Given the description of an element on the screen output the (x, y) to click on. 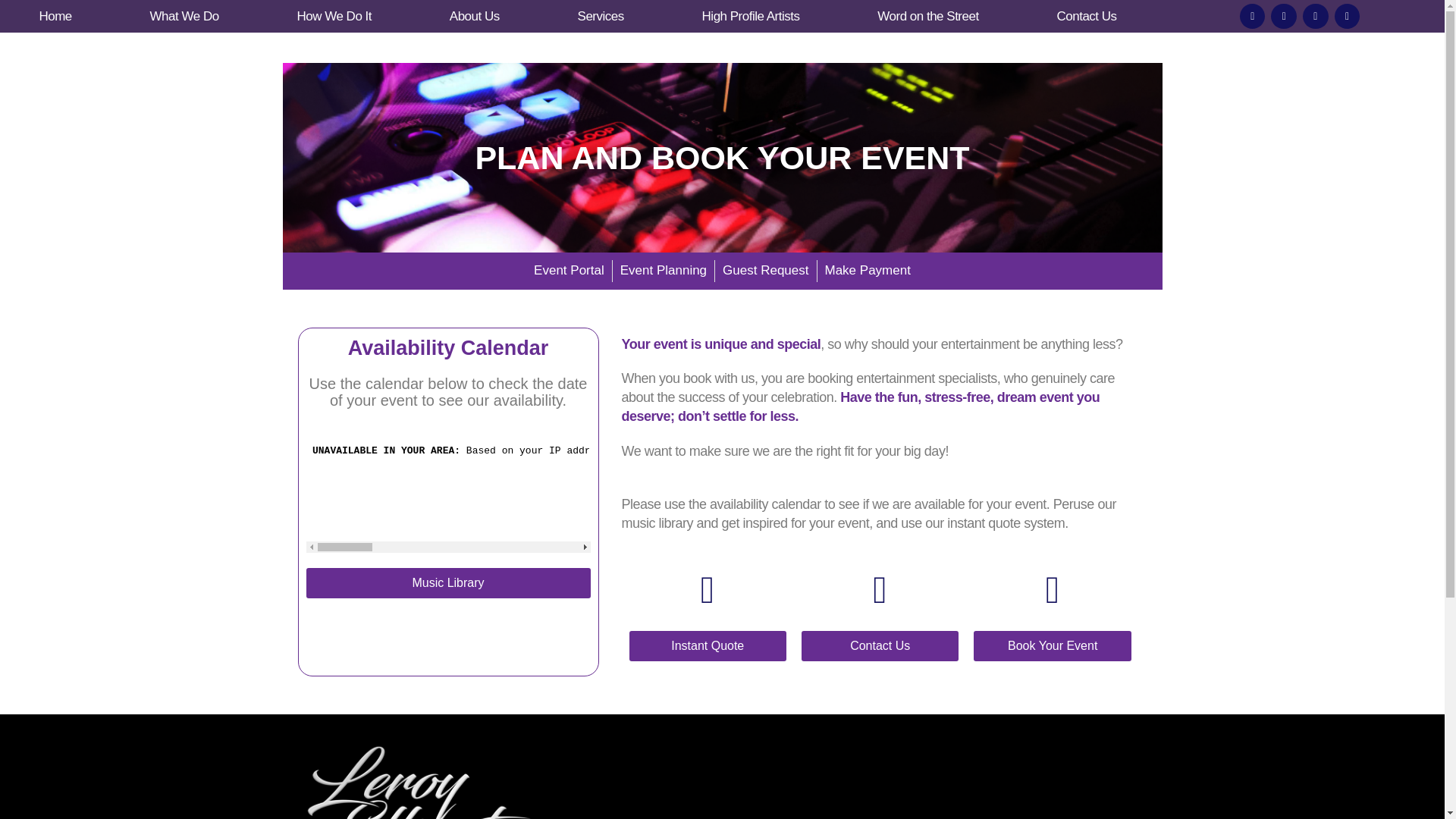
Services (600, 16)
Contact Us (1086, 16)
How We Do It (333, 16)
Home (55, 16)
High Profile Artists (750, 16)
What We Do (183, 16)
About Us (474, 16)
Word on the Street (927, 16)
